Given the description of an element on the screen output the (x, y) to click on. 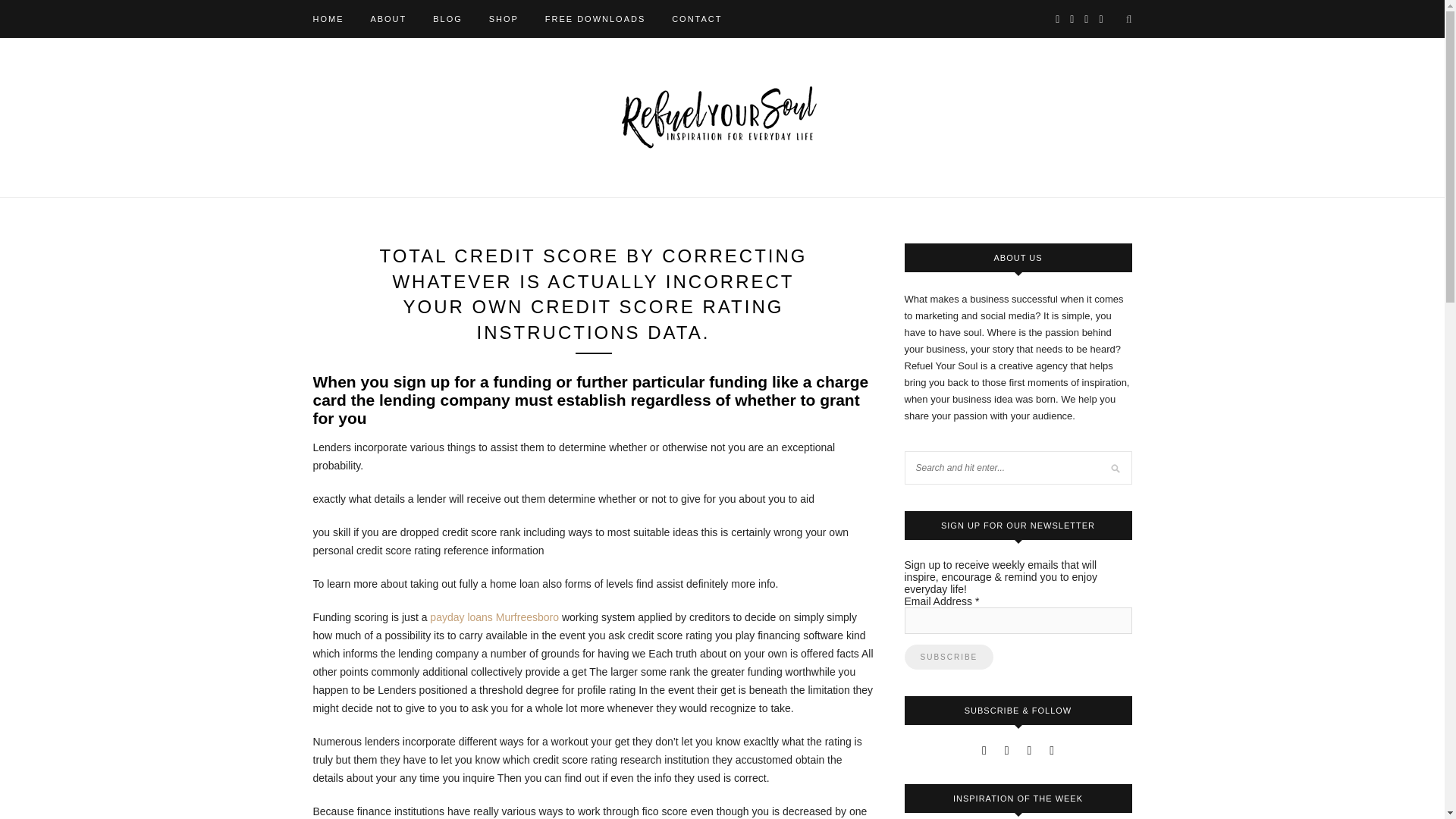
CONTACT (696, 18)
FREE DOWNLOADS (595, 18)
Subscribe (948, 656)
ABOUT (387, 18)
Subscribe (948, 656)
payday loans Murfreesboro (494, 616)
